Given the description of an element on the screen output the (x, y) to click on. 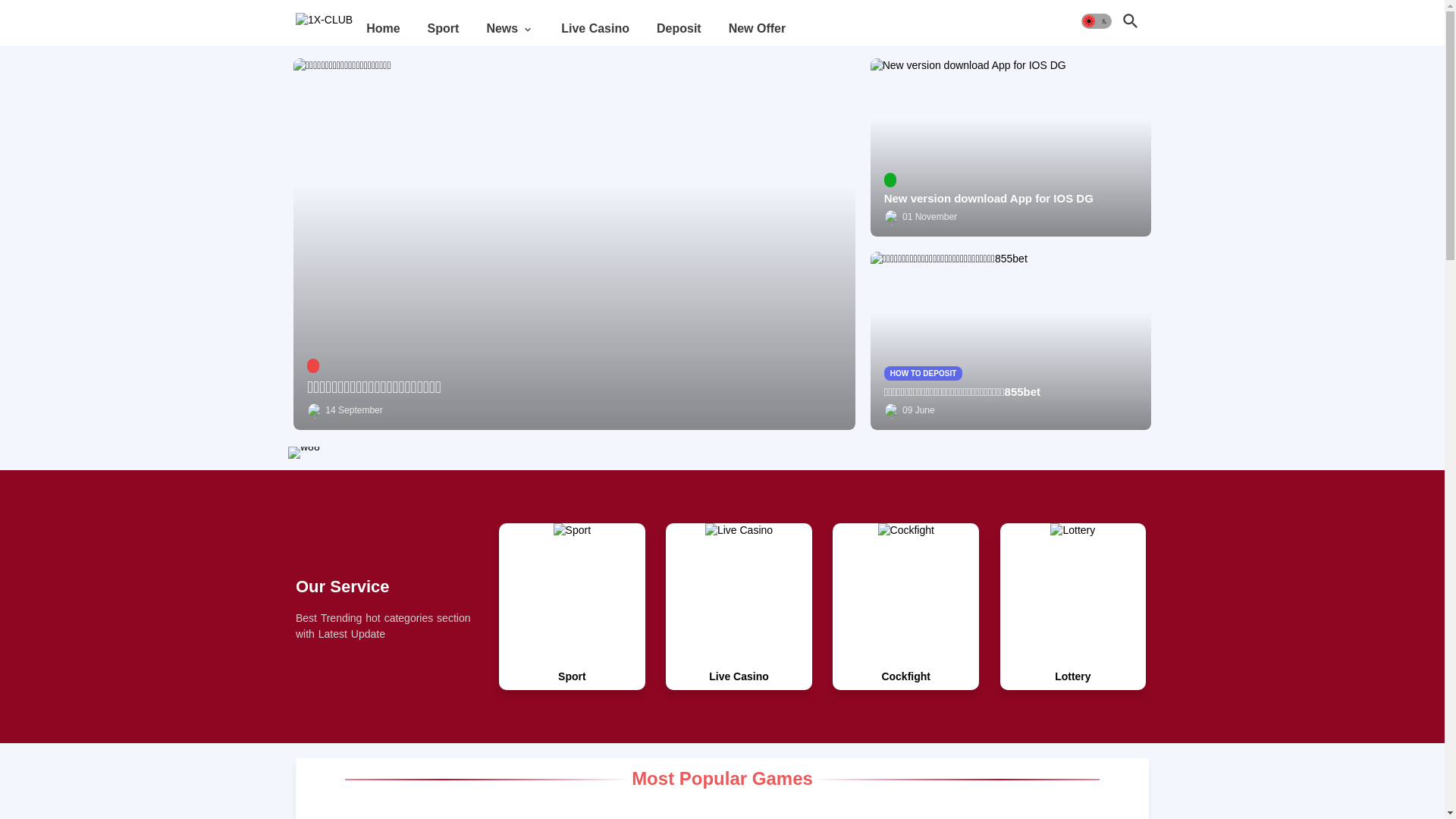
Cockfight Element type: text (905, 676)
Search Element type: hover (1130, 21)
Live Casino Element type: text (738, 676)
Live Casino Element type: text (595, 28)
News Element type: text (509, 28)
Lottery Element type: text (1072, 676)
Sport Element type: text (443, 28)
Home Element type: text (382, 28)
Sport Element type: text (572, 676)
New version download App for IOS DG
01 November Element type: text (1010, 147)
Deposit Element type: text (679, 28)
New Offer Element type: text (757, 28)
